Given the description of an element on the screen output the (x, y) to click on. 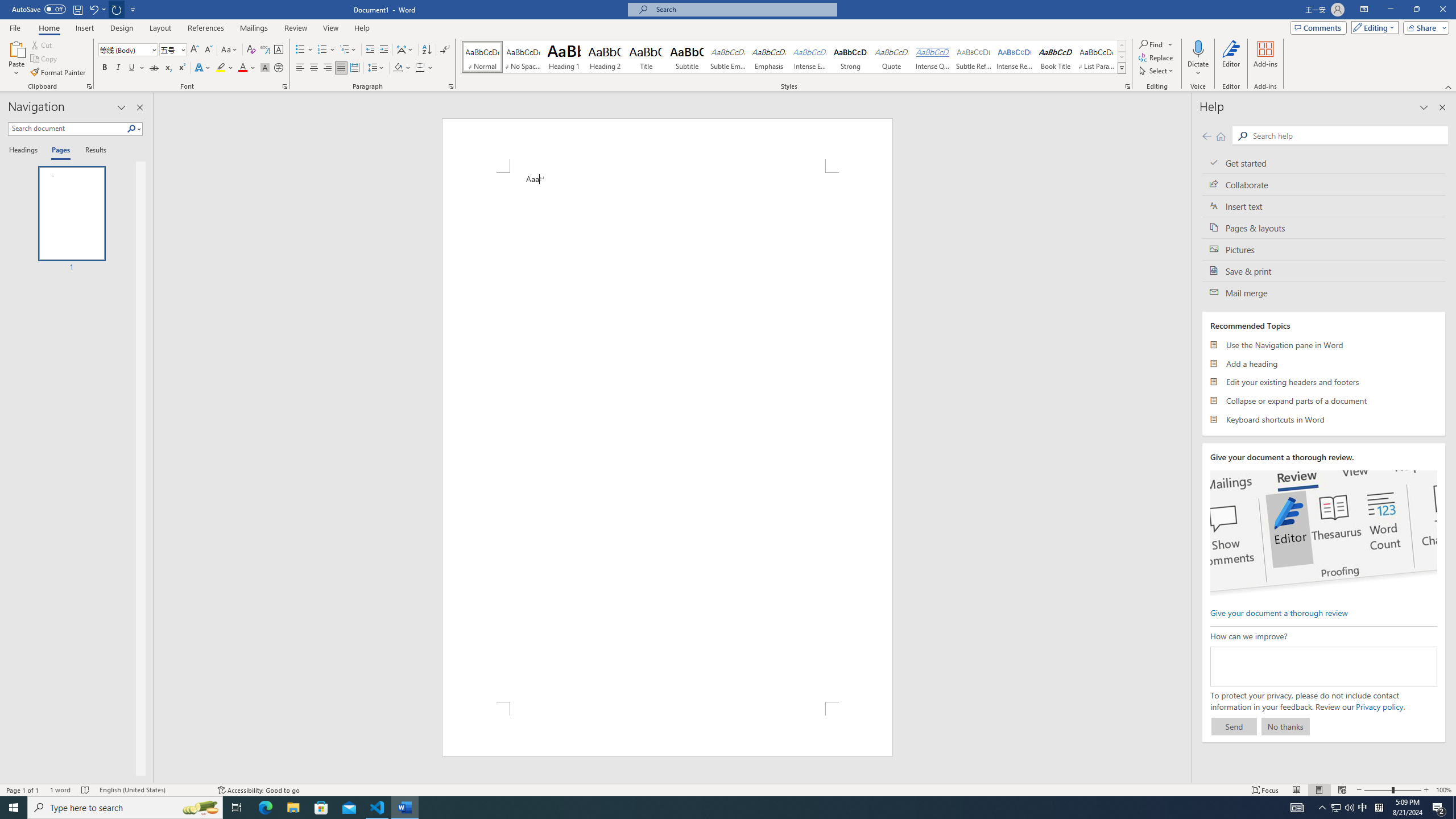
Customize Quick Access Toolbar (133, 9)
editor ui screenshot (1323, 533)
Undo Style (96, 9)
Page Number Page 1 of 1 (22, 790)
Select (1157, 69)
Privacy policy (1379, 706)
Numbering (322, 49)
Superscript (180, 67)
Layout (160, 28)
Quote (891, 56)
Styles... (1127, 85)
Search document (66, 128)
Intense Emphasis (809, 56)
Home (1220, 136)
Font (128, 49)
